Given the description of an element on the screen output the (x, y) to click on. 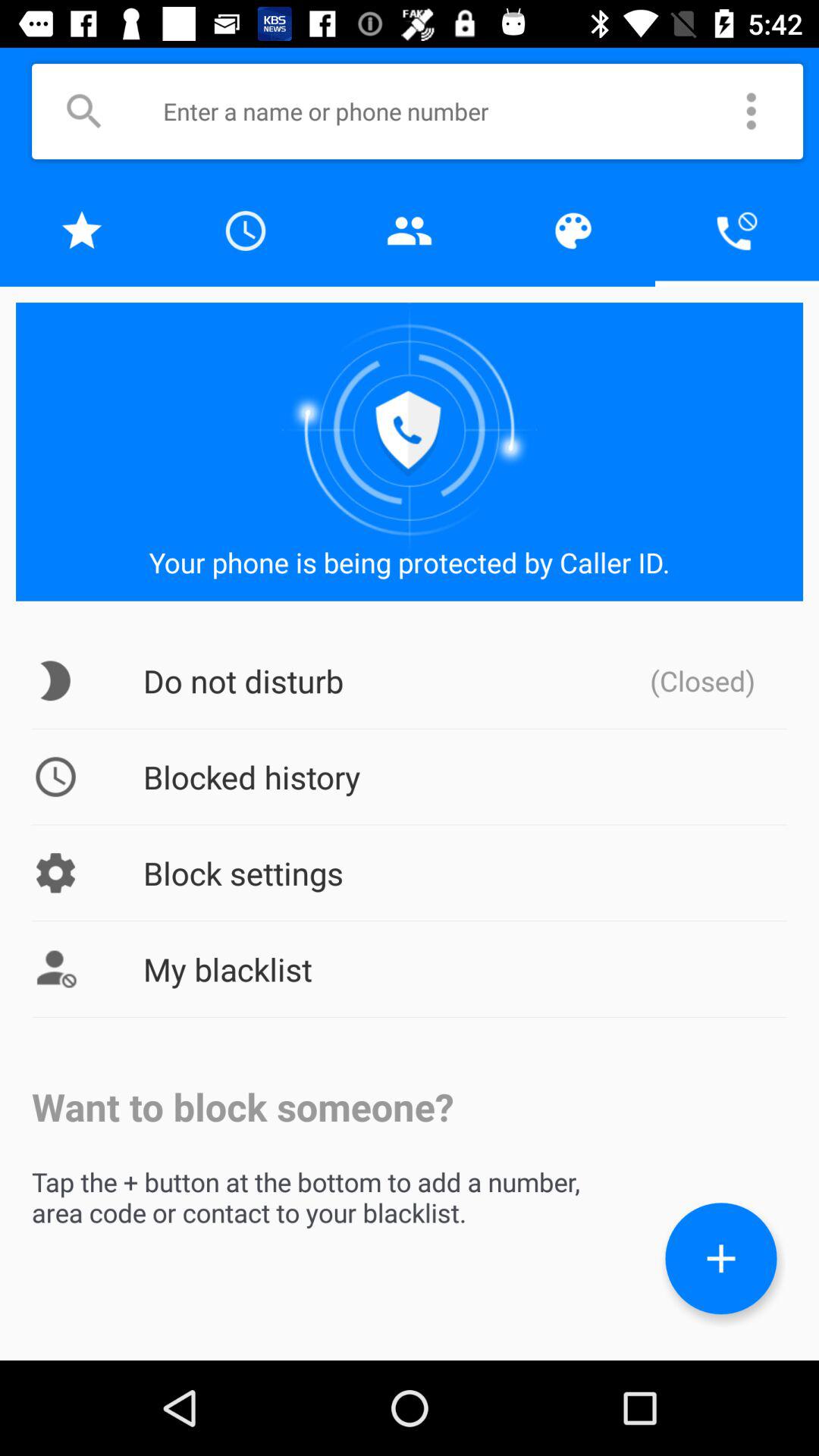
search via a name or phone number (439, 110)
